Given the description of an element on the screen output the (x, y) to click on. 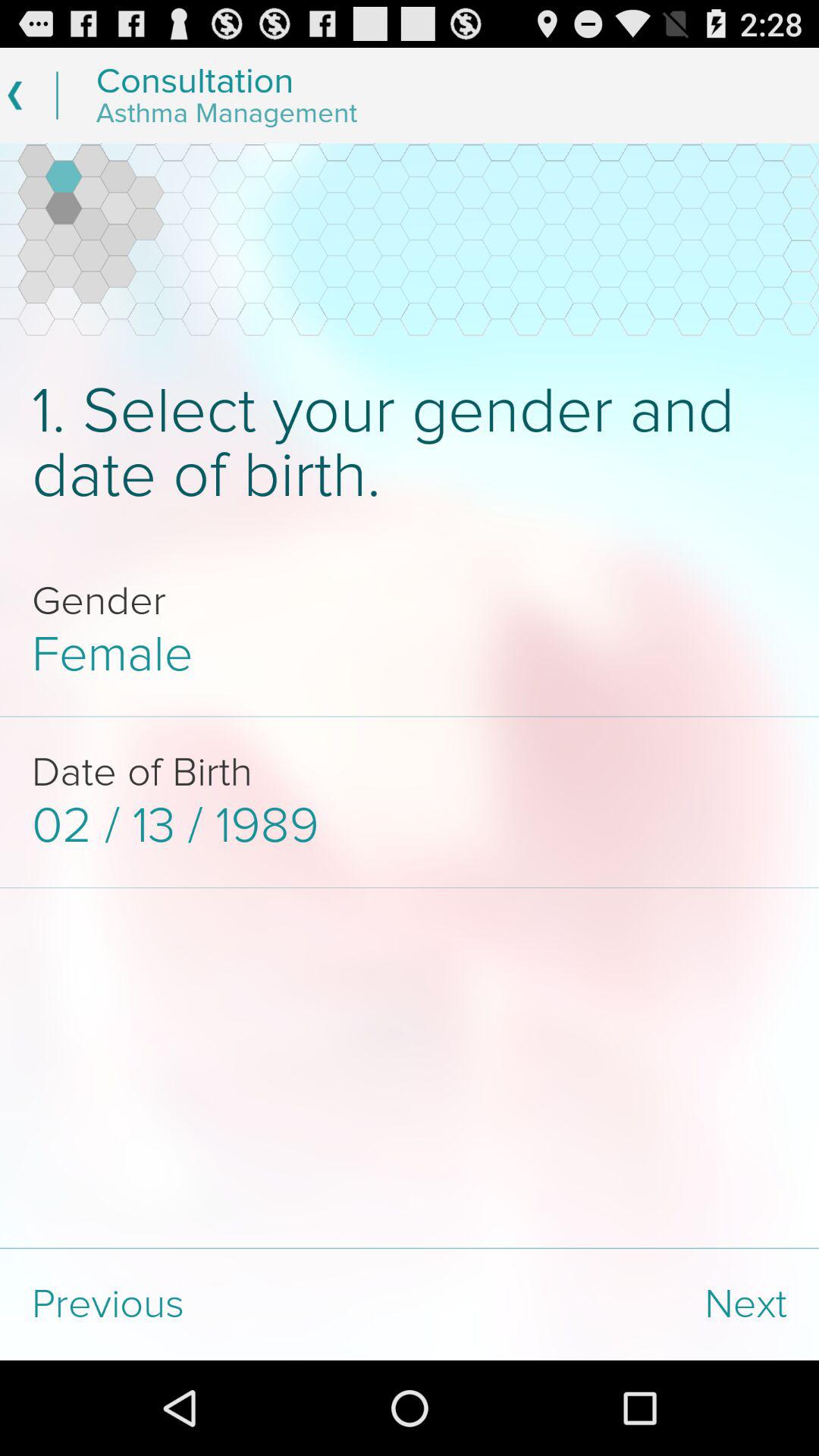
select the line left of the text consultation asthma management (55, 95)
